Given the description of an element on the screen output the (x, y) to click on. 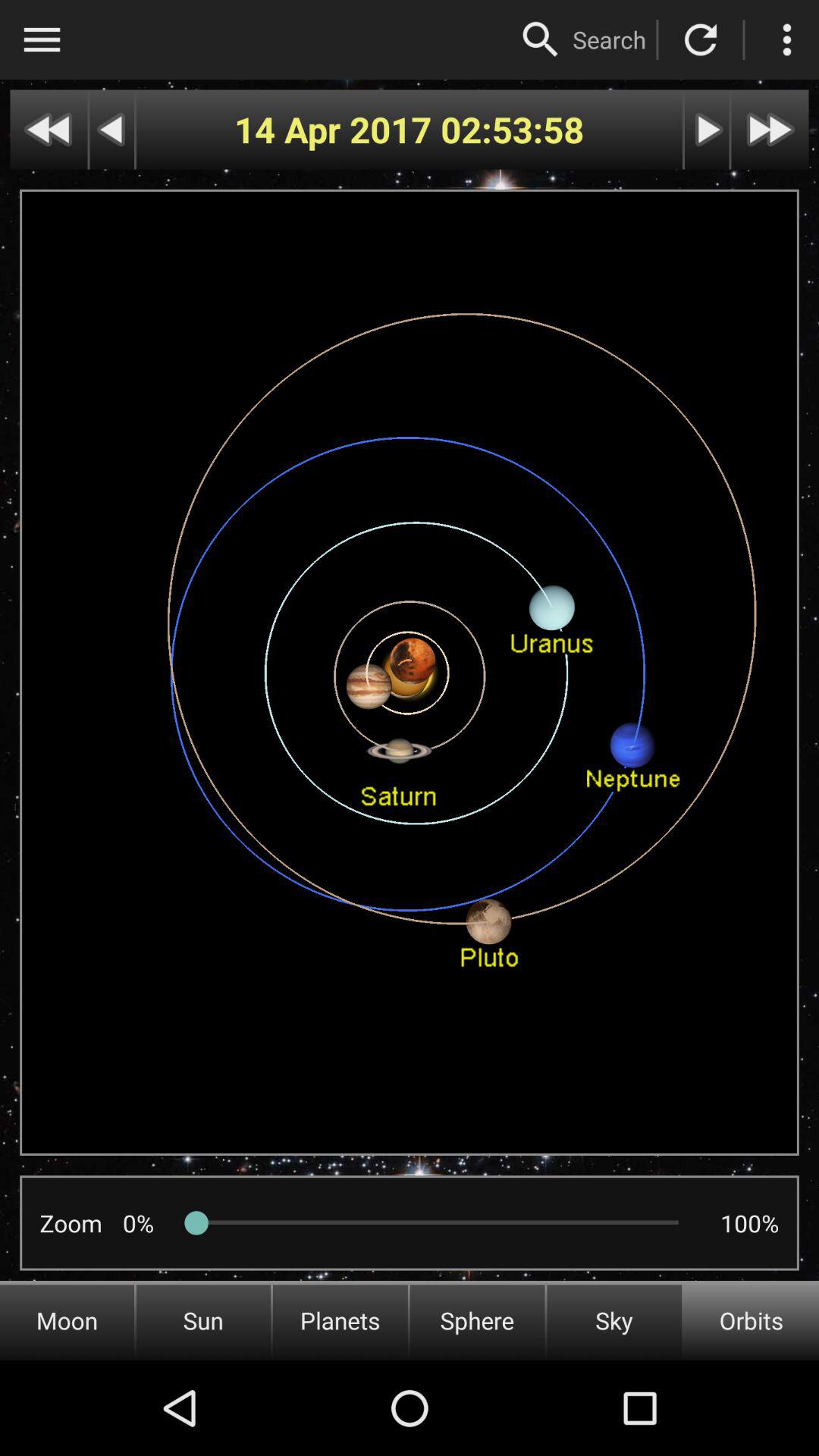
launch icon to the right of the 14 apr 2017 (512, 129)
